Given the description of an element on the screen output the (x, y) to click on. 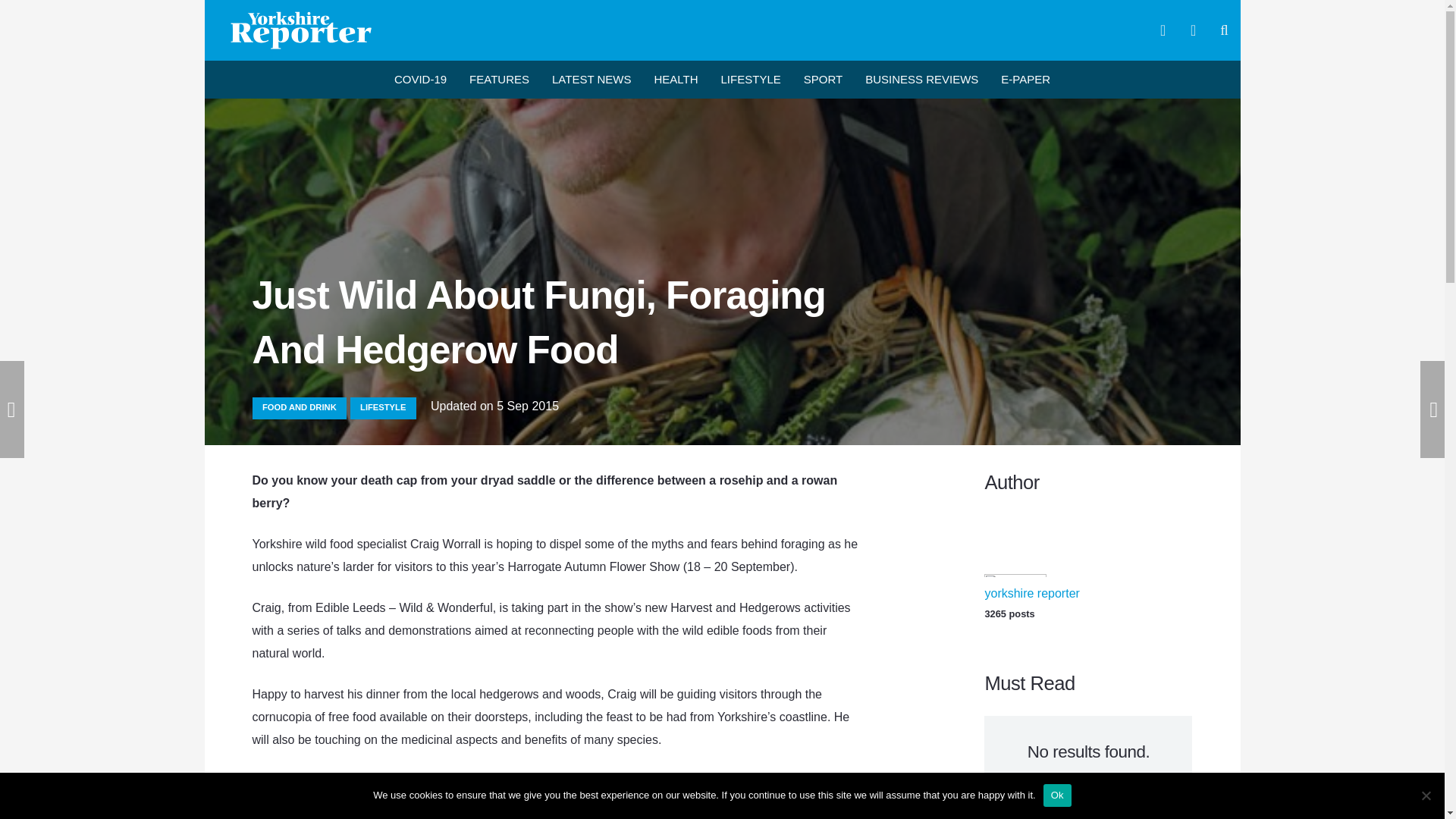
COVID-19 (420, 79)
Facebook (1162, 30)
LATEST NEWS (591, 79)
FEATURES (499, 79)
Twitter (1192, 30)
